Given the description of an element on the screen output the (x, y) to click on. 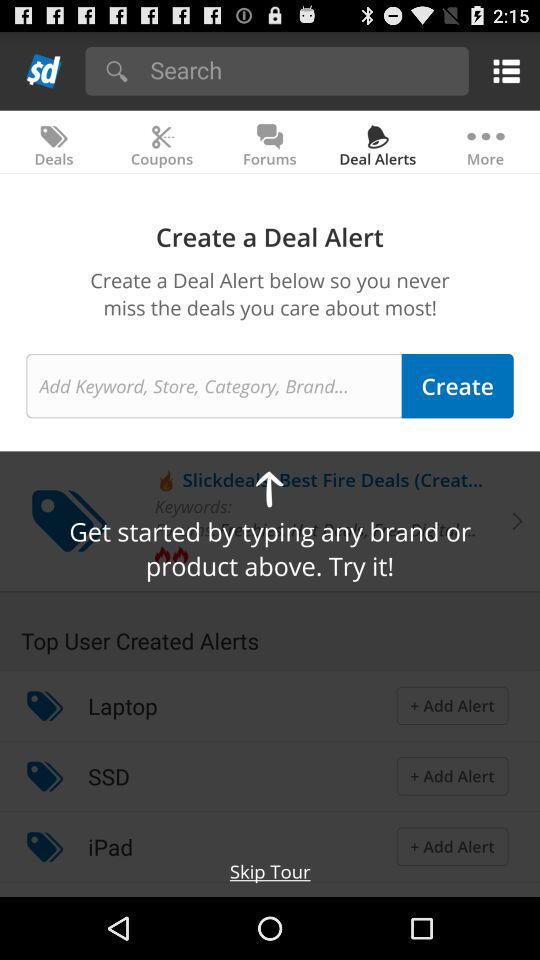
tap the item below get started by (270, 591)
